Given the description of an element on the screen output the (x, y) to click on. 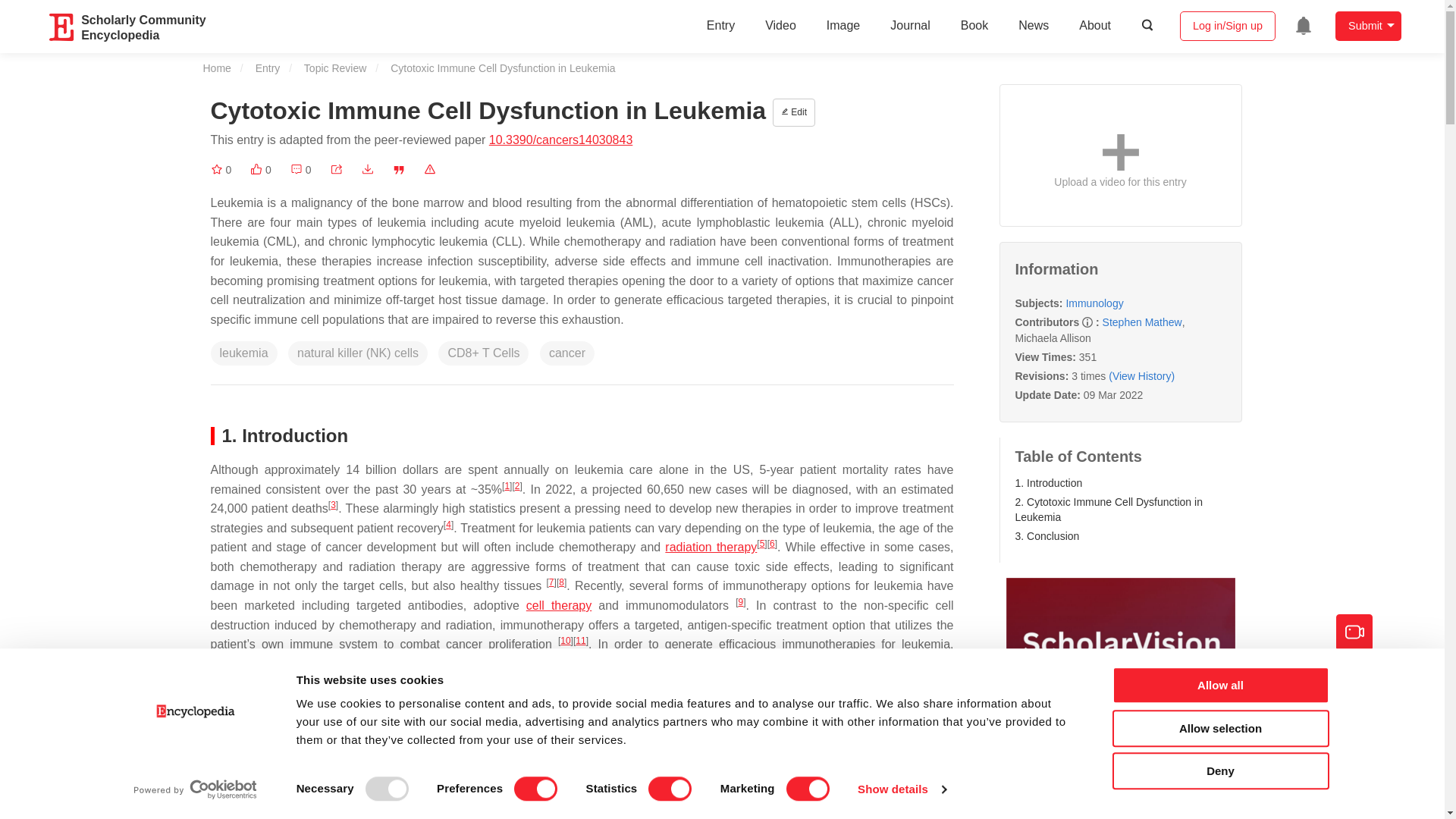
Comment (300, 169)
Show details (900, 789)
Like (260, 169)
Edit (794, 112)
Favorite (221, 169)
